Given the description of an element on the screen output the (x, y) to click on. 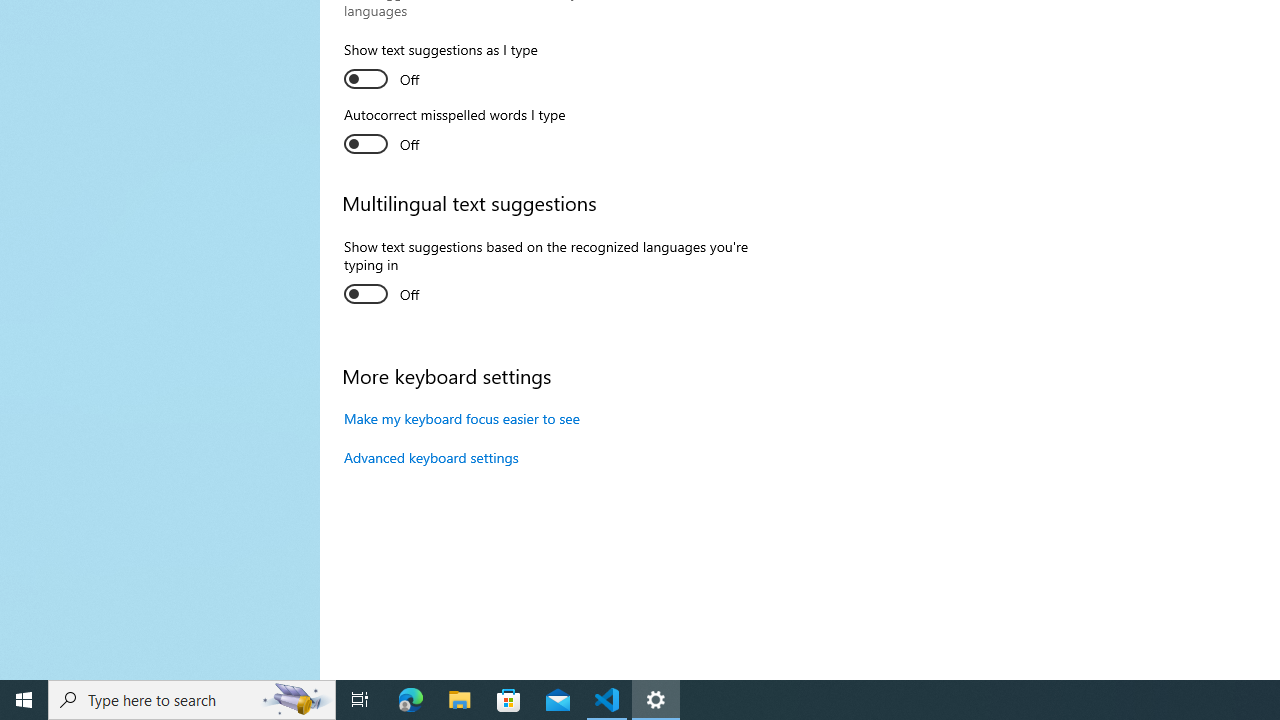
Advanced keyboard settings (431, 457)
Make my keyboard focus easier to see (461, 417)
Autocorrect misspelled words I type (454, 132)
Show text suggestions as I type (440, 67)
Settings - 1 running window (656, 699)
